Given the description of an element on the screen output the (x, y) to click on. 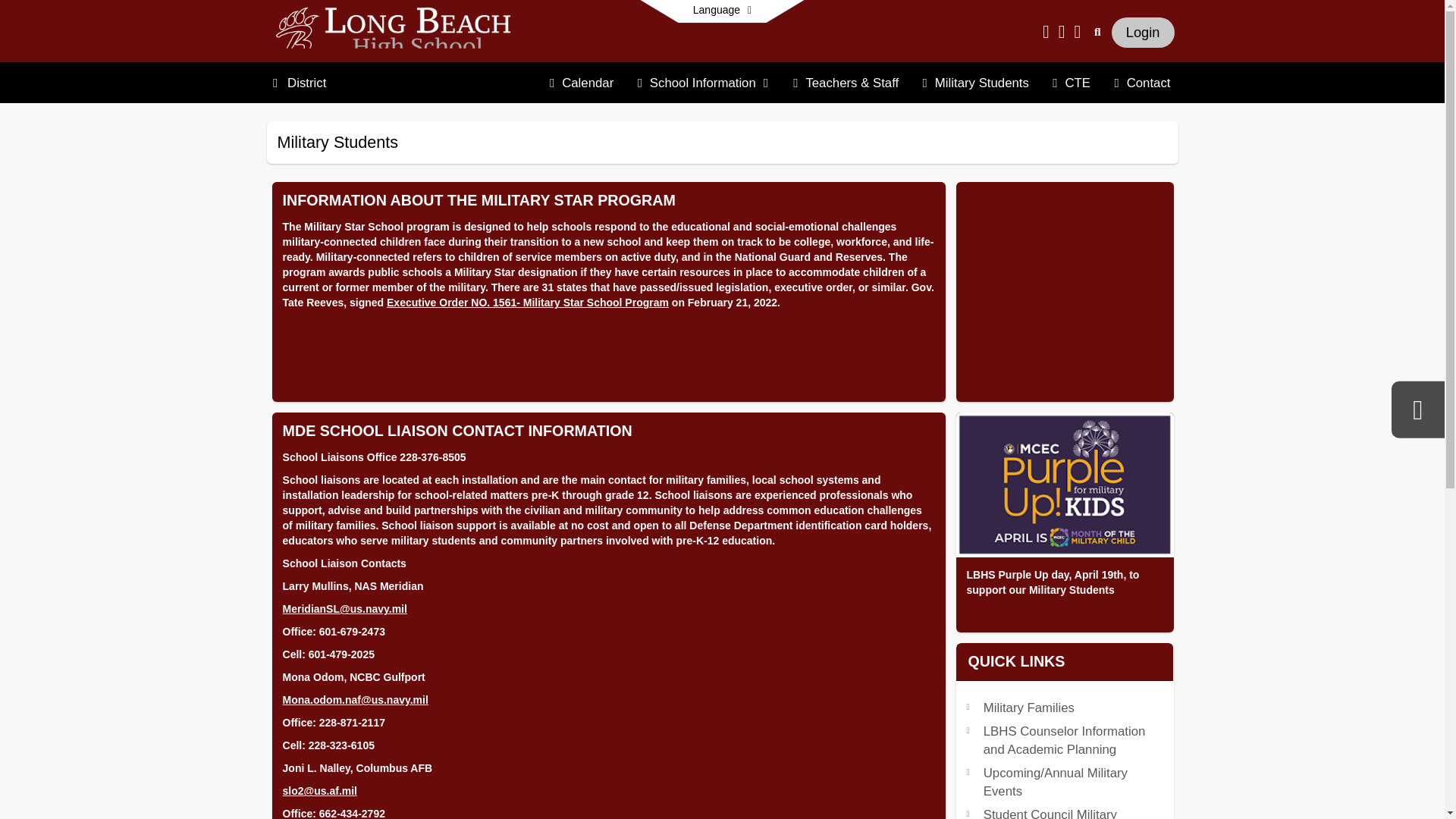
Calendar (581, 83)
Executive Order NO. 1561- Military Star School Program (527, 302)
Long Beach Senior High School (398, 31)
District (306, 83)
Subscribe (1158, 142)
Contact (1141, 83)
Military Star School (1064, 291)
CTE (1071, 83)
Military Families (1029, 707)
LBHS Counselor Information and Academic Planning (1064, 739)
